Given the description of an element on the screen output the (x, y) to click on. 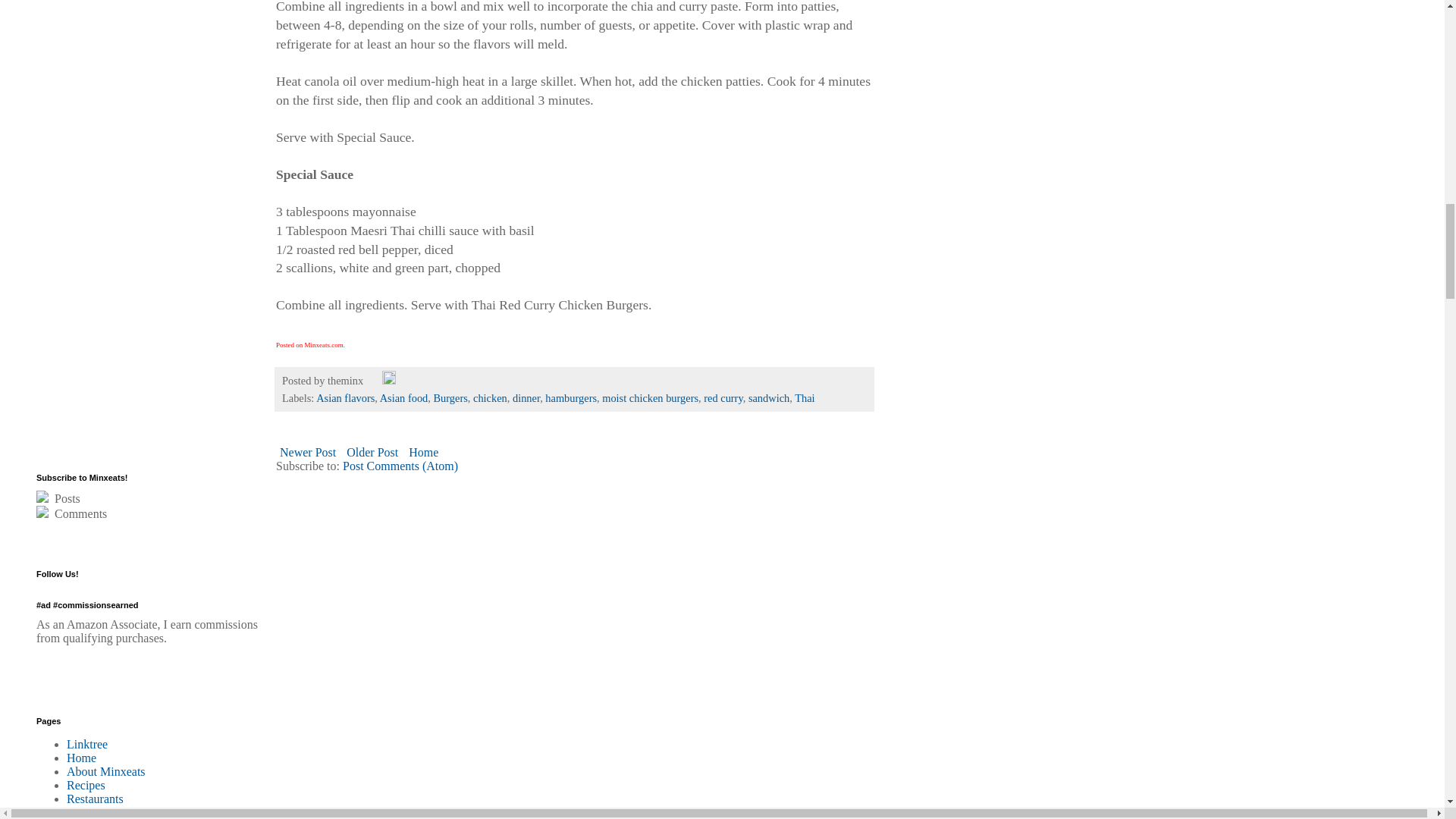
Asian food (404, 398)
Older Post (371, 452)
sandwich (768, 398)
Newer Post (307, 452)
Restaurants (94, 798)
Home (81, 757)
Newer Post (307, 452)
Edit Post (388, 380)
Home (423, 452)
Burgers (449, 398)
Asian flavors (344, 398)
About Minxeats (105, 771)
Linktree (86, 744)
hamburgers (570, 398)
Older Post (371, 452)
